Given the description of an element on the screen output the (x, y) to click on. 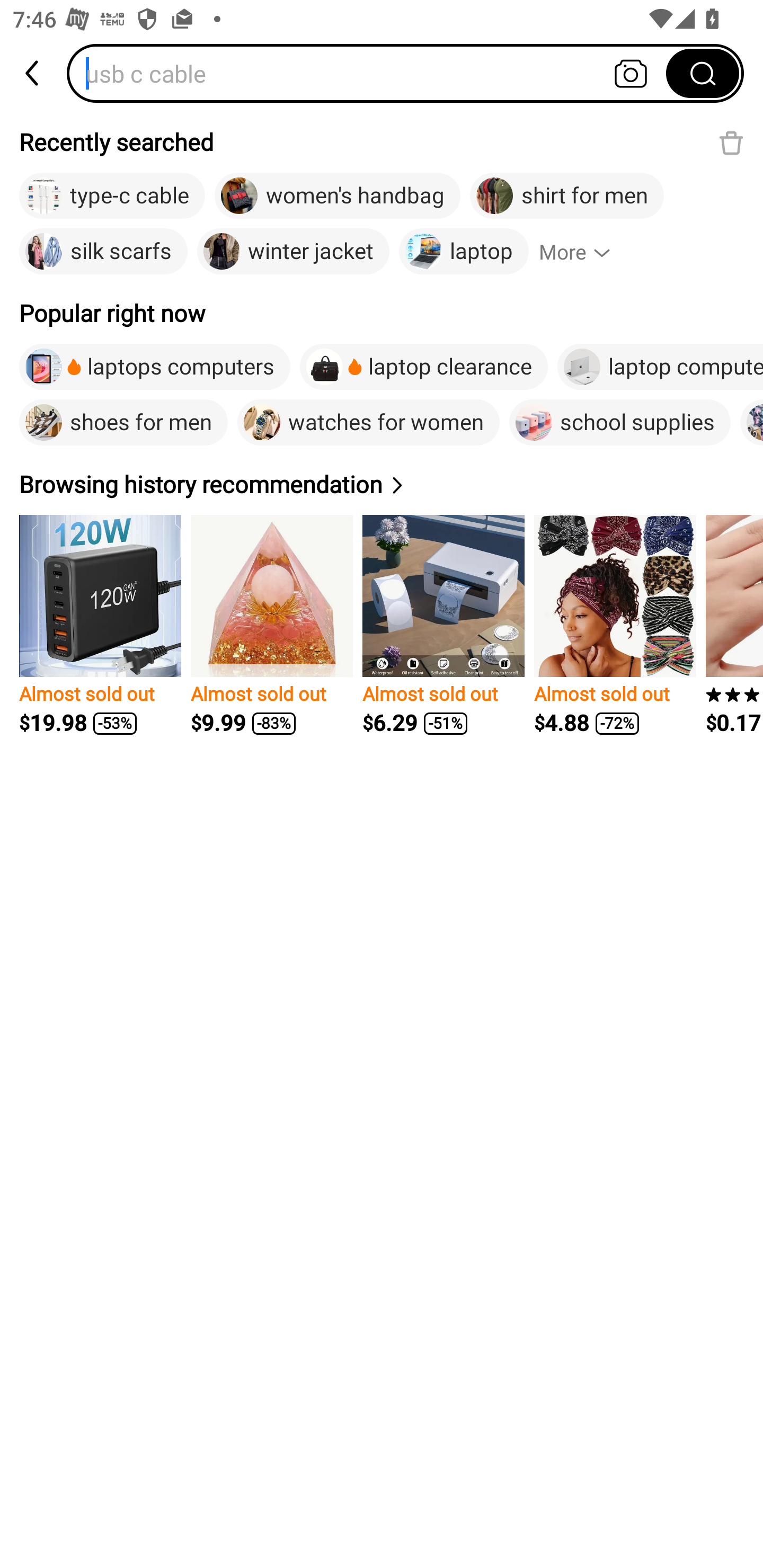
back (33, 72)
usb c cable (372, 73)
Search by photo (630, 73)
Delete recent search (731, 142)
type-c cable (112, 195)
women's handbag (337, 195)
shirt for men (566, 195)
silk scarfs (103, 251)
winter jacket (292, 251)
laptop (463, 251)
More (582, 251)
laptops computers (154, 366)
laptop clearance (423, 366)
laptop computer touchscreen (660, 366)
shoes for men (123, 422)
watches for women (368, 422)
school supplies (619, 422)
Browsing history recommendation (213, 484)
Almost sold out $19.98 -53% (100, 625)
Almost sold out $9.99 -83% (271, 625)
Almost sold out $6.29 -51% (443, 625)
Almost sold out $4.88 -72% (614, 625)
